Given the description of an element on the screen output the (x, y) to click on. 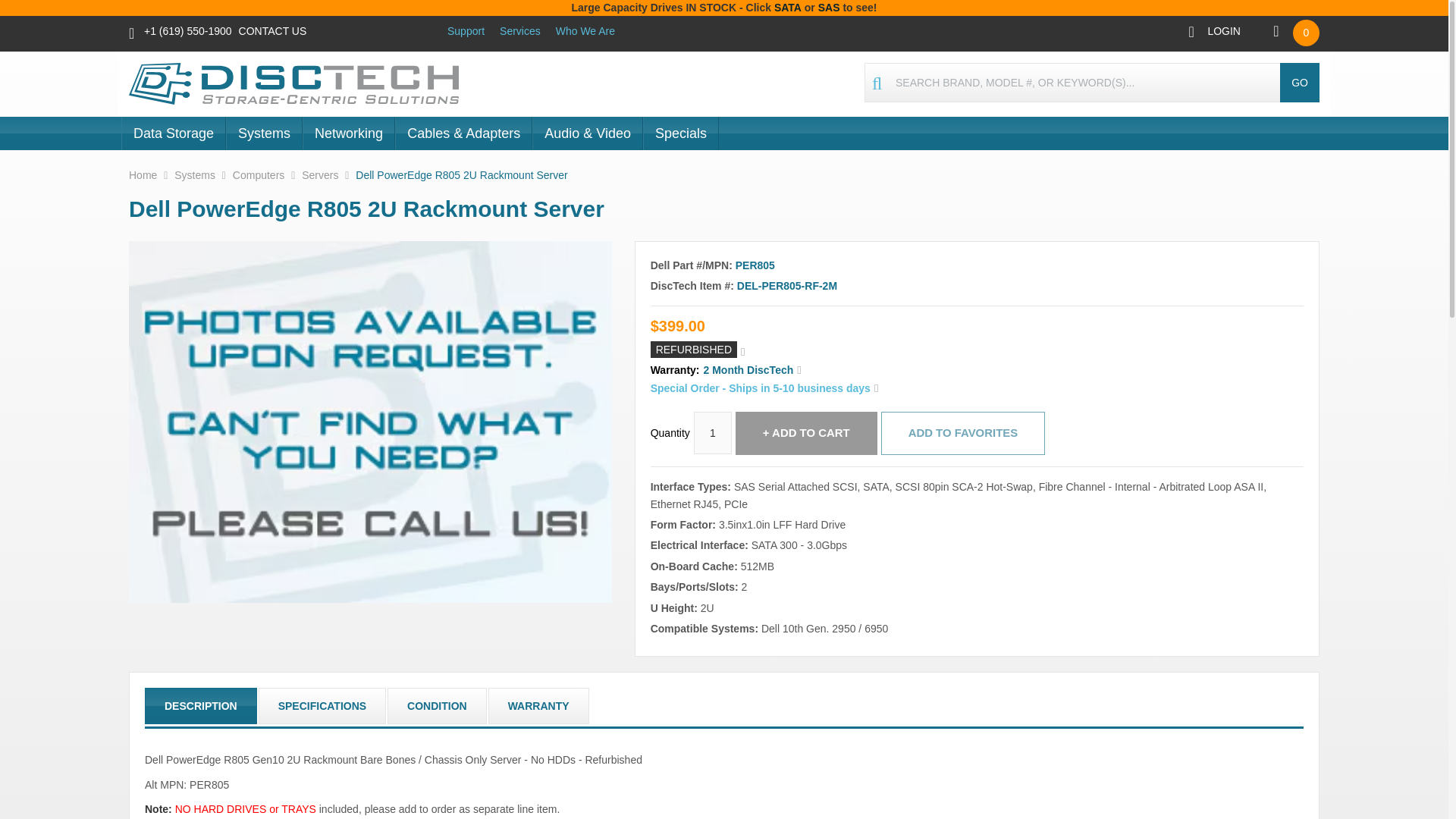
1 (713, 432)
Services (519, 30)
Dell PER805 R805 Dell PowerEdge Server Condition (436, 705)
GO (1299, 81)
Cart (1289, 32)
DiscTech (296, 83)
CONTACT US (272, 30)
Support (465, 30)
SATA (788, 7)
Data Storage (172, 133)
